Given the description of an element on the screen output the (x, y) to click on. 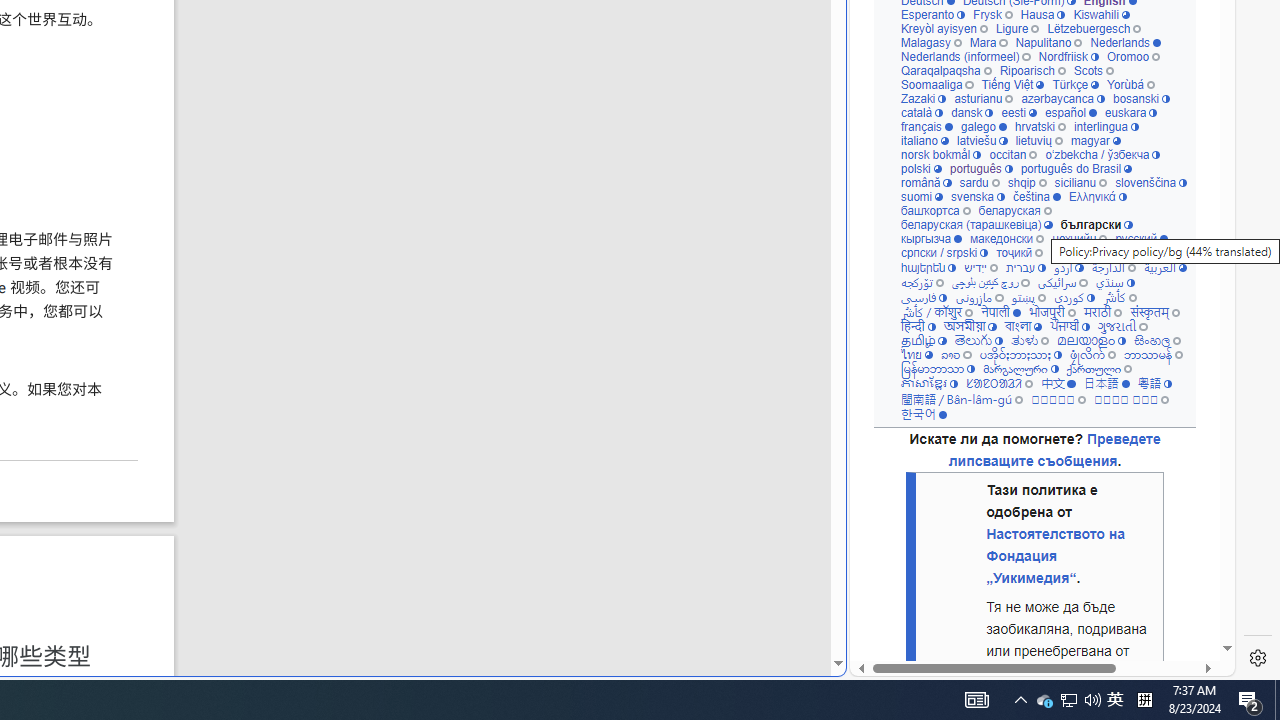
Esperanto (932, 14)
Ripoarisch (1032, 70)
Zazaki (923, 97)
Scots (1093, 70)
italiano (923, 140)
dansk (972, 112)
magyar (1095, 140)
